Given the description of an element on the screen output the (x, y) to click on. 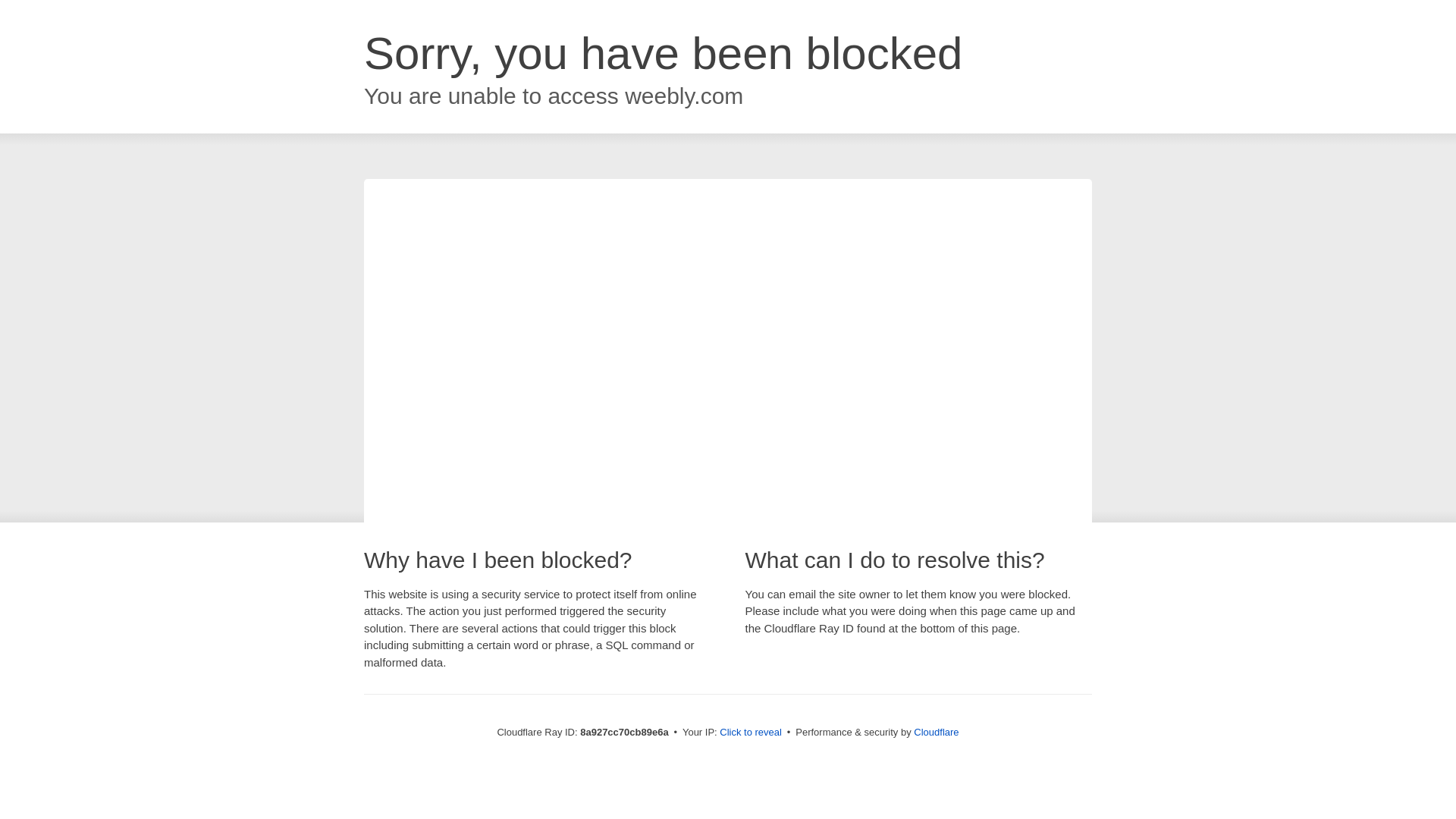
Cloudflare (936, 731)
Click to reveal (750, 732)
